Given the description of an element on the screen output the (x, y) to click on. 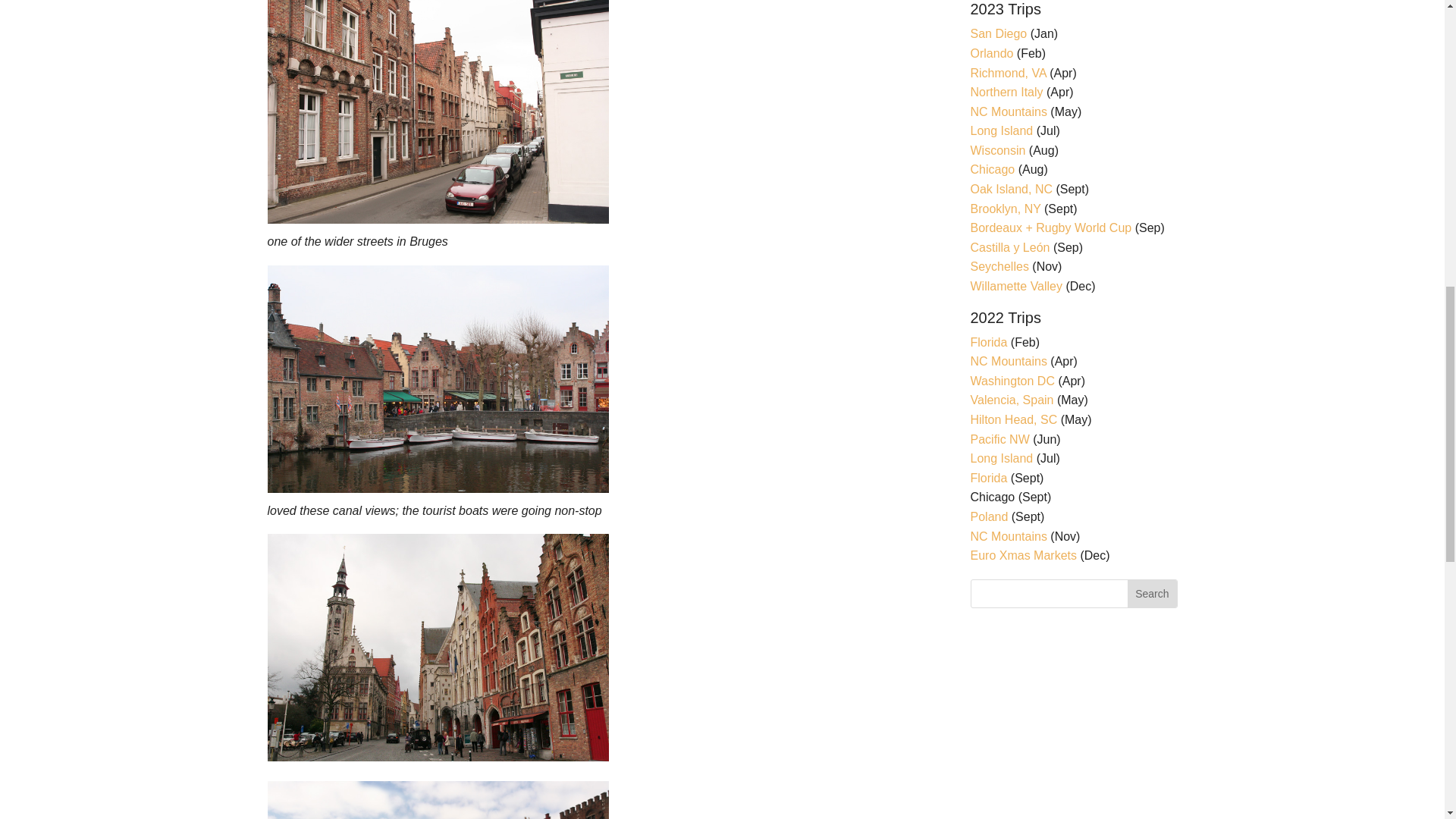
Chicago (992, 169)
Northern Italy (1007, 91)
Brooklyn, NY (1006, 208)
Wisconsin (998, 150)
Orlando (992, 52)
Oak Island, NC (1011, 188)
NC Mountains (1008, 111)
San Diego (999, 33)
Search (1151, 593)
Long Island (1002, 130)
Richmond, VA (1008, 72)
Search (1151, 593)
